Given the description of an element on the screen output the (x, y) to click on. 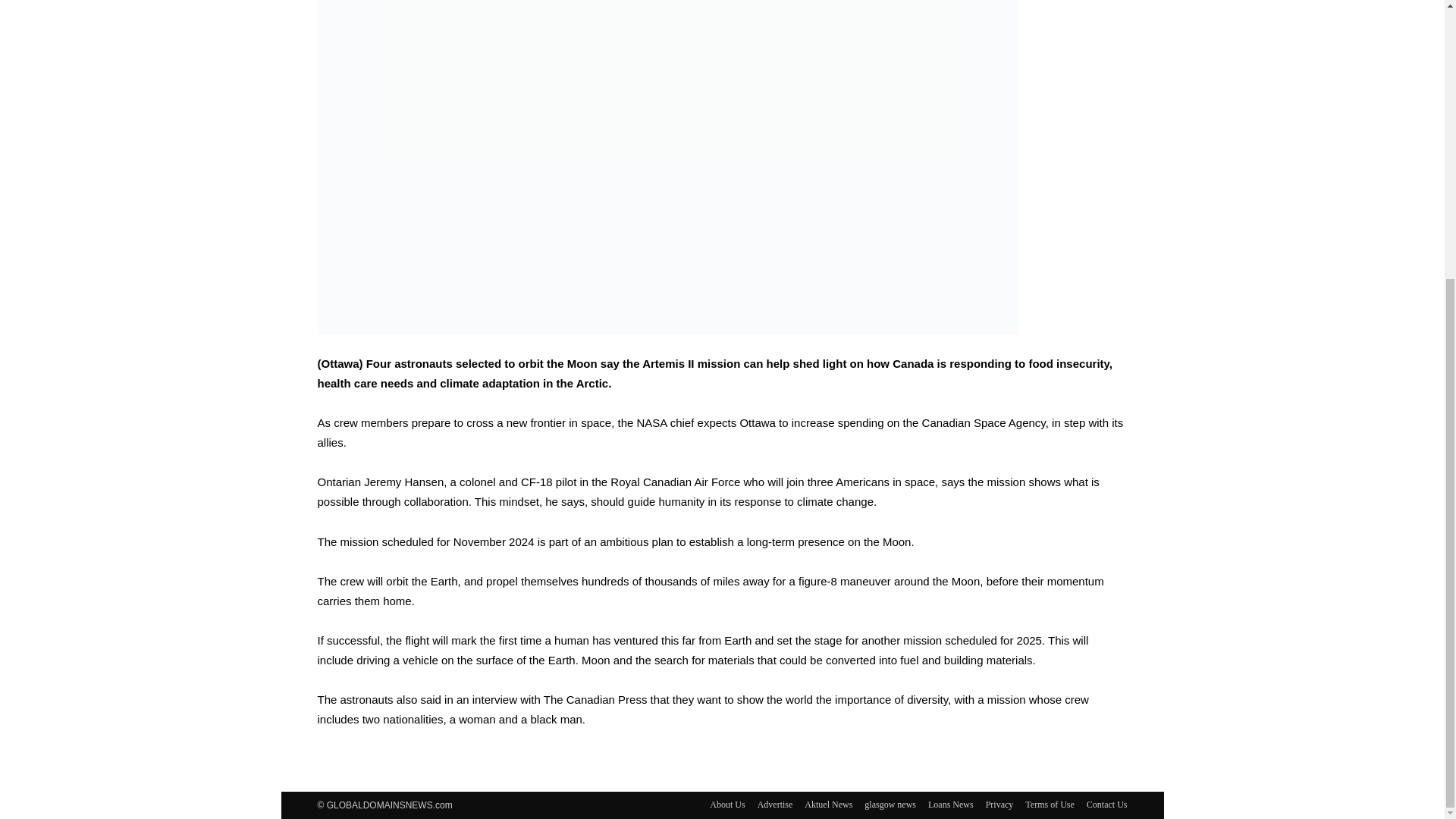
Aktuel News (828, 804)
glasgow news (889, 804)
Loans News (951, 804)
Advertise (775, 804)
Terms of Use (1049, 804)
Contact Us (1106, 804)
About Us (727, 804)
Privacy (999, 804)
